Given the description of an element on the screen output the (x, y) to click on. 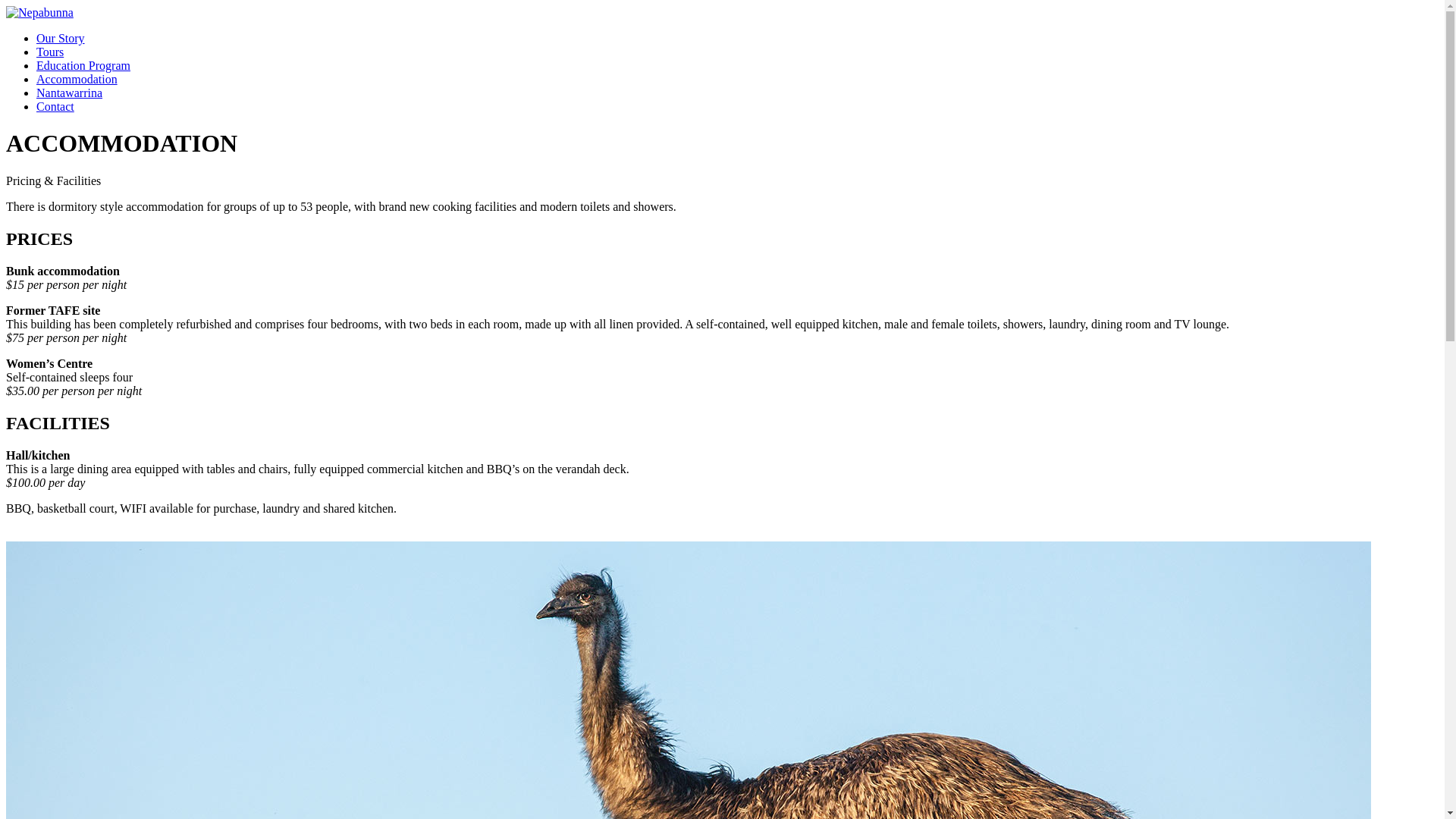
Our Story Element type: text (60, 37)
Nantawarrina Element type: text (69, 92)
Contact Element type: text (55, 106)
Accommodation Element type: text (76, 78)
Education Program Element type: text (83, 65)
Tours Element type: text (49, 51)
